Given the description of an element on the screen output the (x, y) to click on. 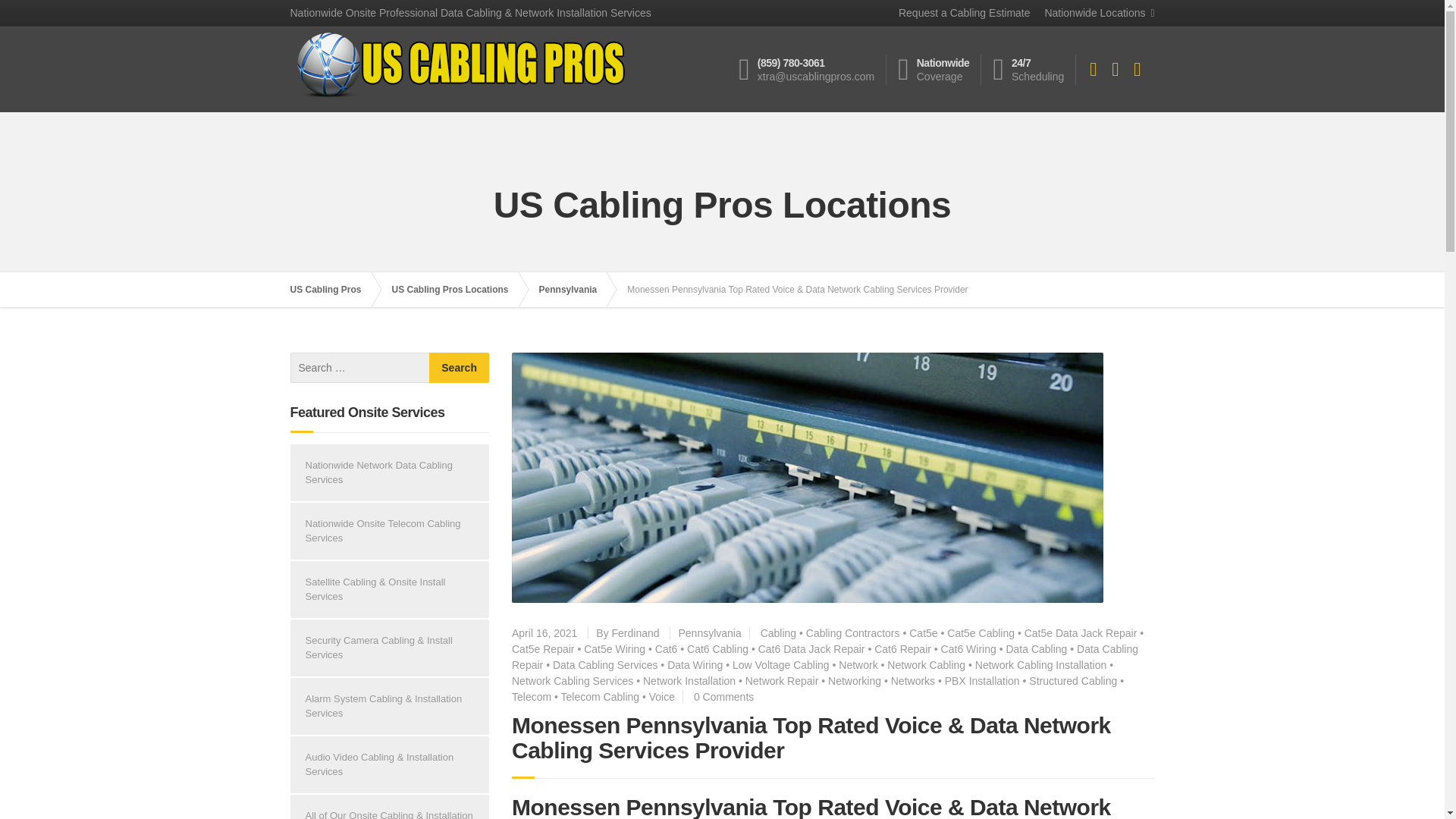
Cabling Contractors (852, 633)
Pennsylvania (575, 289)
Cat5e Cabling (980, 633)
US Cabling Pros (332, 289)
Cat5e Data Jack Repair (1081, 633)
Cat5e (922, 633)
Request a Cabling Estimate (958, 13)
Search (459, 367)
US Cabling Pros Locations (457, 289)
Cabling (778, 633)
Pennsylvania (709, 633)
Go to US Cabling Pros. (332, 289)
Nationwide Locations (1093, 13)
Go to the Pennsylvania Category archives. (575, 289)
Cat5e Repair (543, 648)
